Given the description of an element on the screen output the (x, y) to click on. 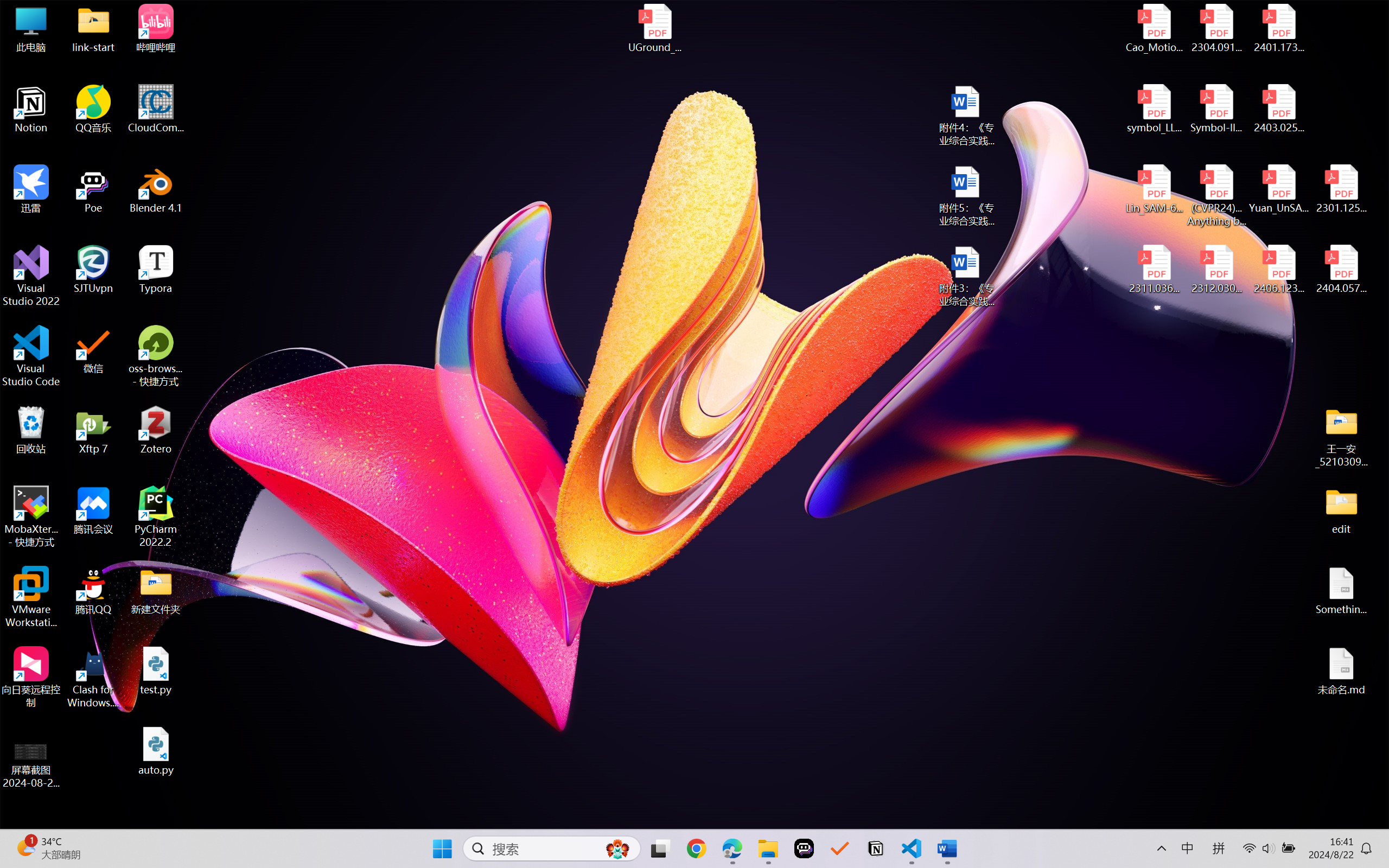
Blender 4.1 (156, 189)
Google Chrome (696, 848)
Symbol-llm-v2.pdf (1216, 109)
Visual Studio Code (31, 355)
edit (1340, 510)
2406.12373v2.pdf (1278, 269)
Xftp 7 (93, 430)
